Given the description of an element on the screen output the (x, y) to click on. 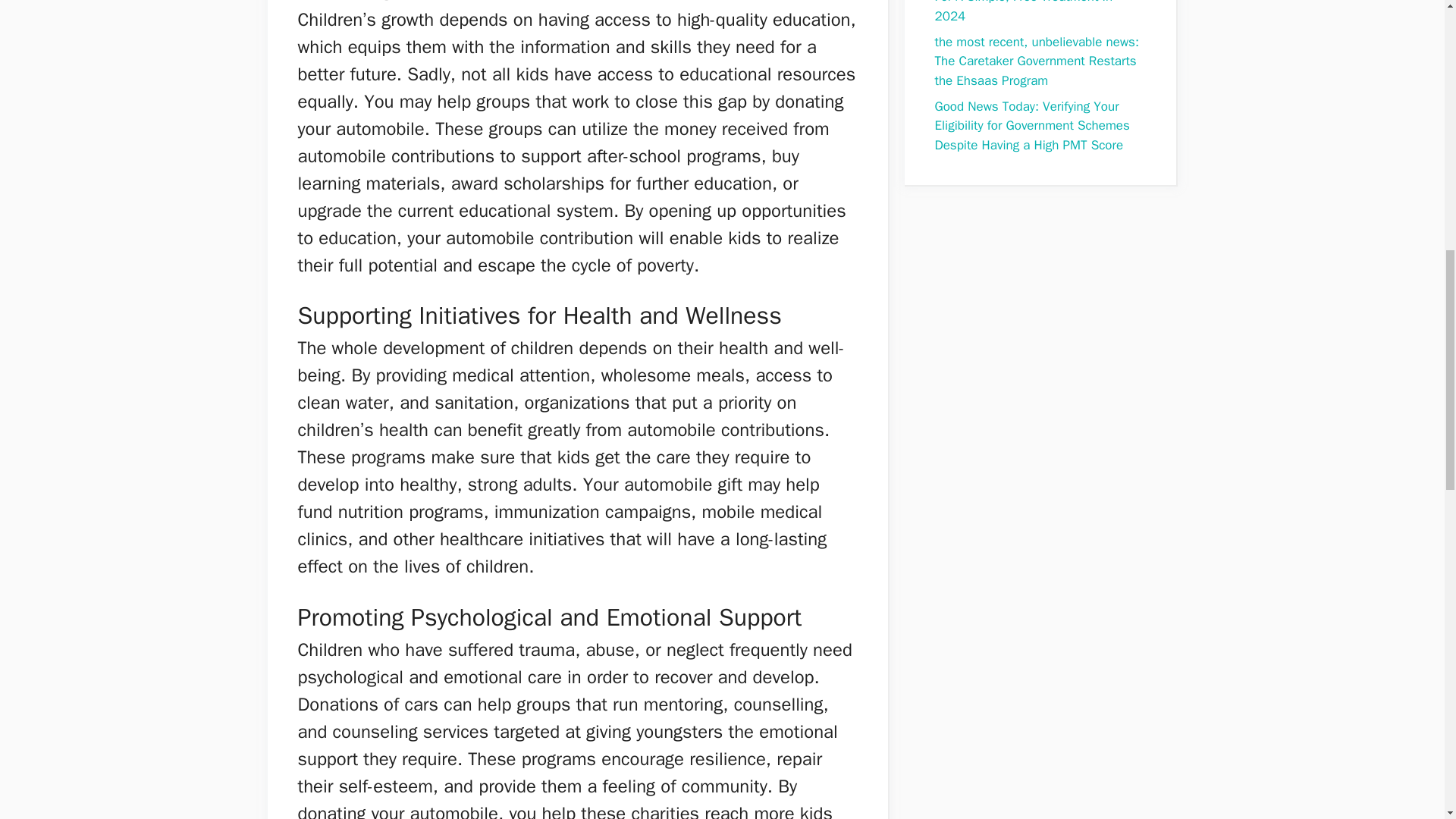
Scroll back to top (1406, 720)
